Given the description of an element on the screen output the (x, y) to click on. 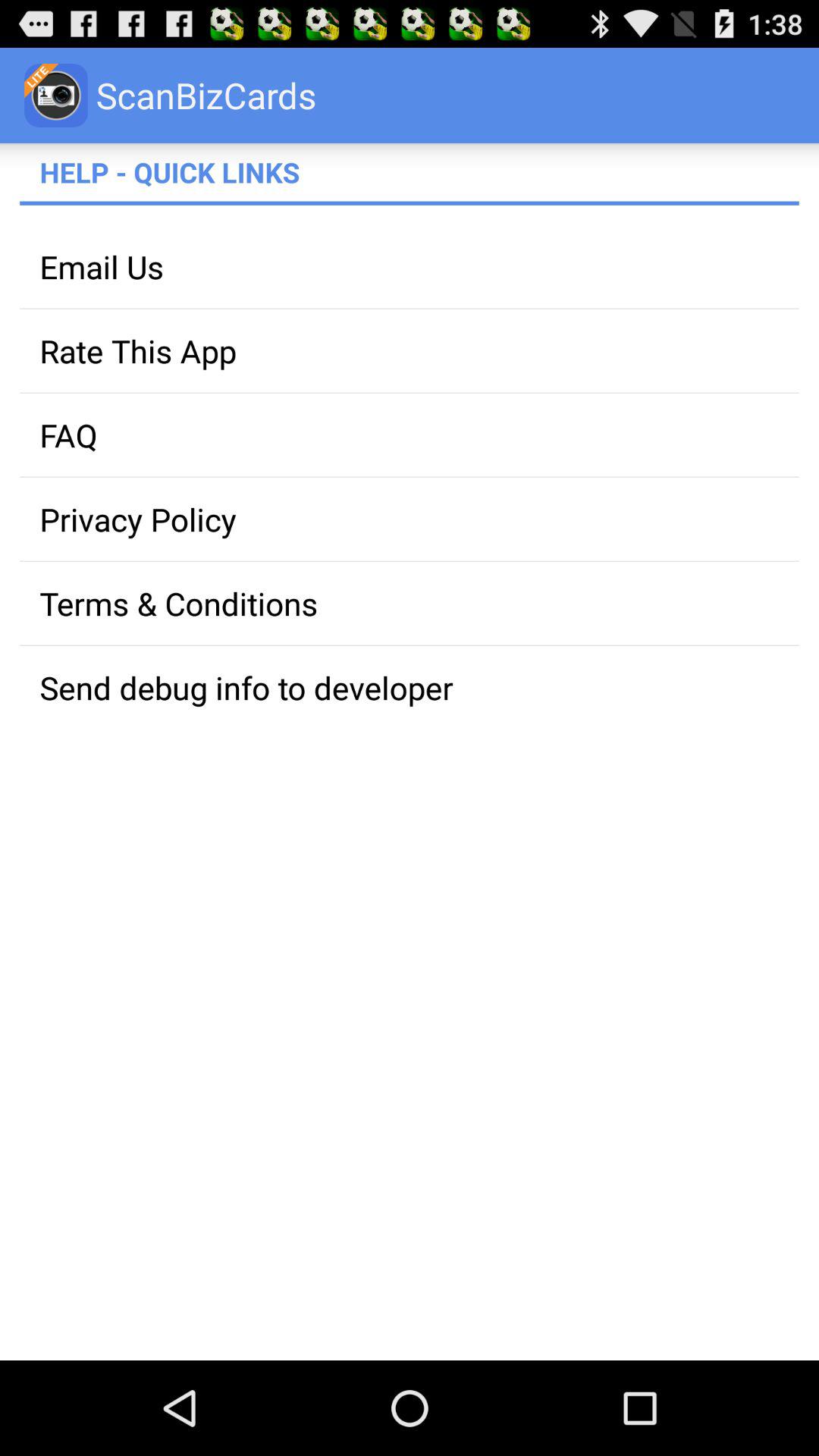
launch the privacy policy app (409, 518)
